Given the description of an element on the screen output the (x, y) to click on. 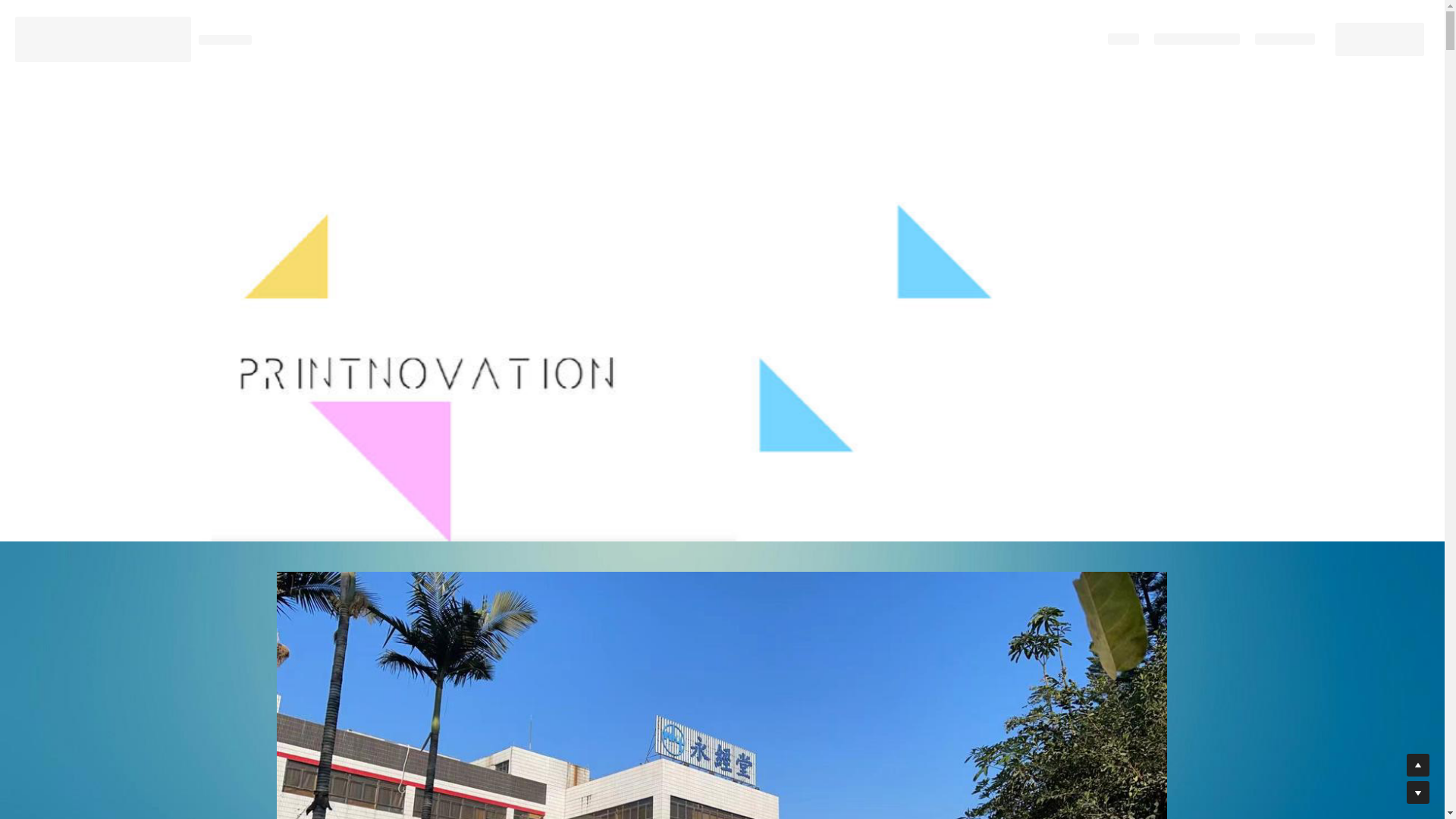
HOME Element type: text (1123, 38)
CERTIFICATIONS Element type: text (1196, 38)
LOCATIONS Element type: text (1284, 38)
